Given the description of an element on the screen output the (x, y) to click on. 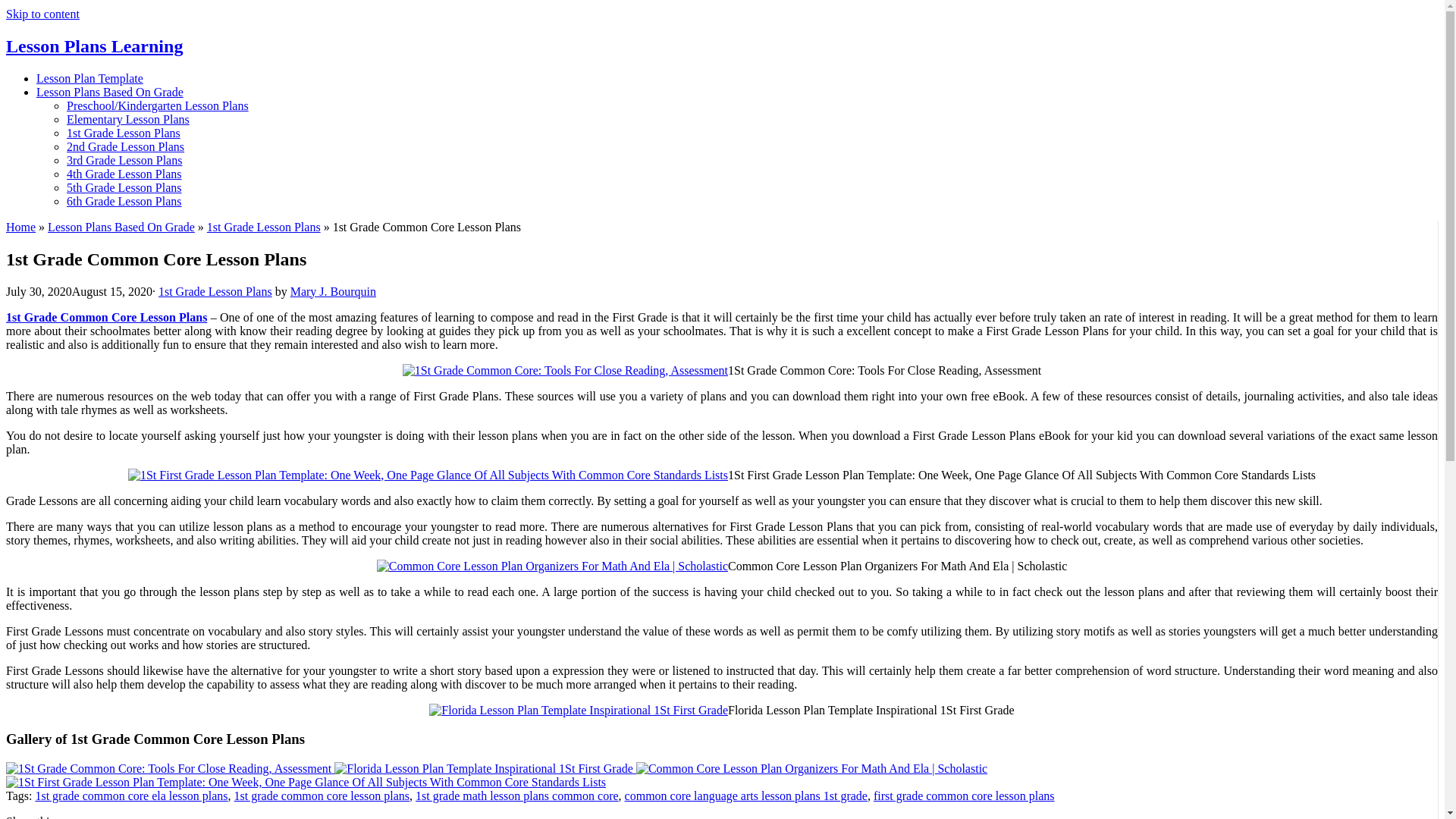
first grade common core lesson plans (963, 795)
3rd Grade Lesson Plans (124, 160)
1st grade common core tools for close reading assessment (565, 370)
1st grade common core lesson plans (322, 795)
Lesson Plans Based On Grade (109, 91)
4th Grade Lesson Plans (124, 173)
1st Grade Lesson Plans (215, 291)
1st Grade Lesson Plans (263, 226)
1st grade common core ela lesson plans (130, 795)
Elementary Lesson Plans (127, 119)
5th Grade Lesson Plans (124, 187)
Skip to content (42, 13)
Lesson Plans Based On Grade (121, 226)
